Given the description of an element on the screen output the (x, y) to click on. 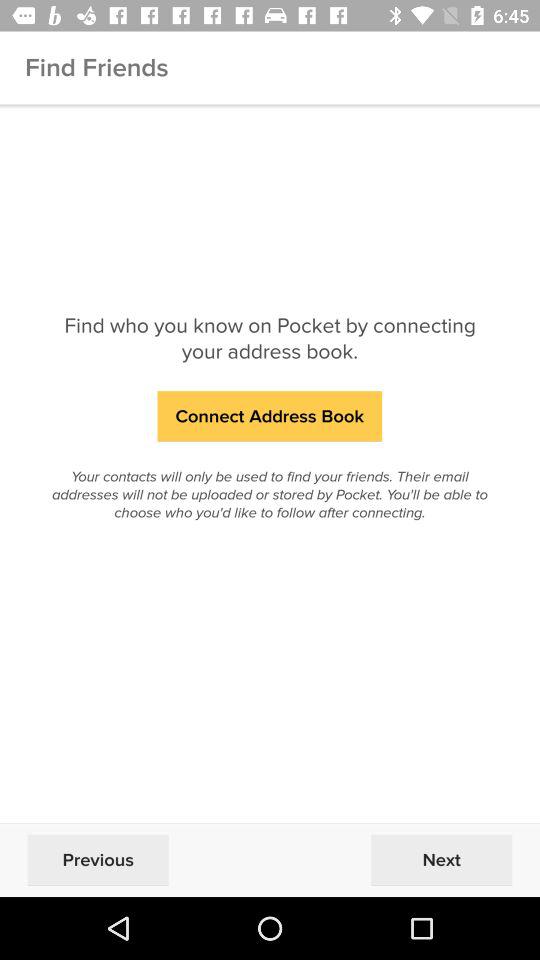
flip until the previous icon (98, 859)
